Given the description of an element on the screen output the (x, y) to click on. 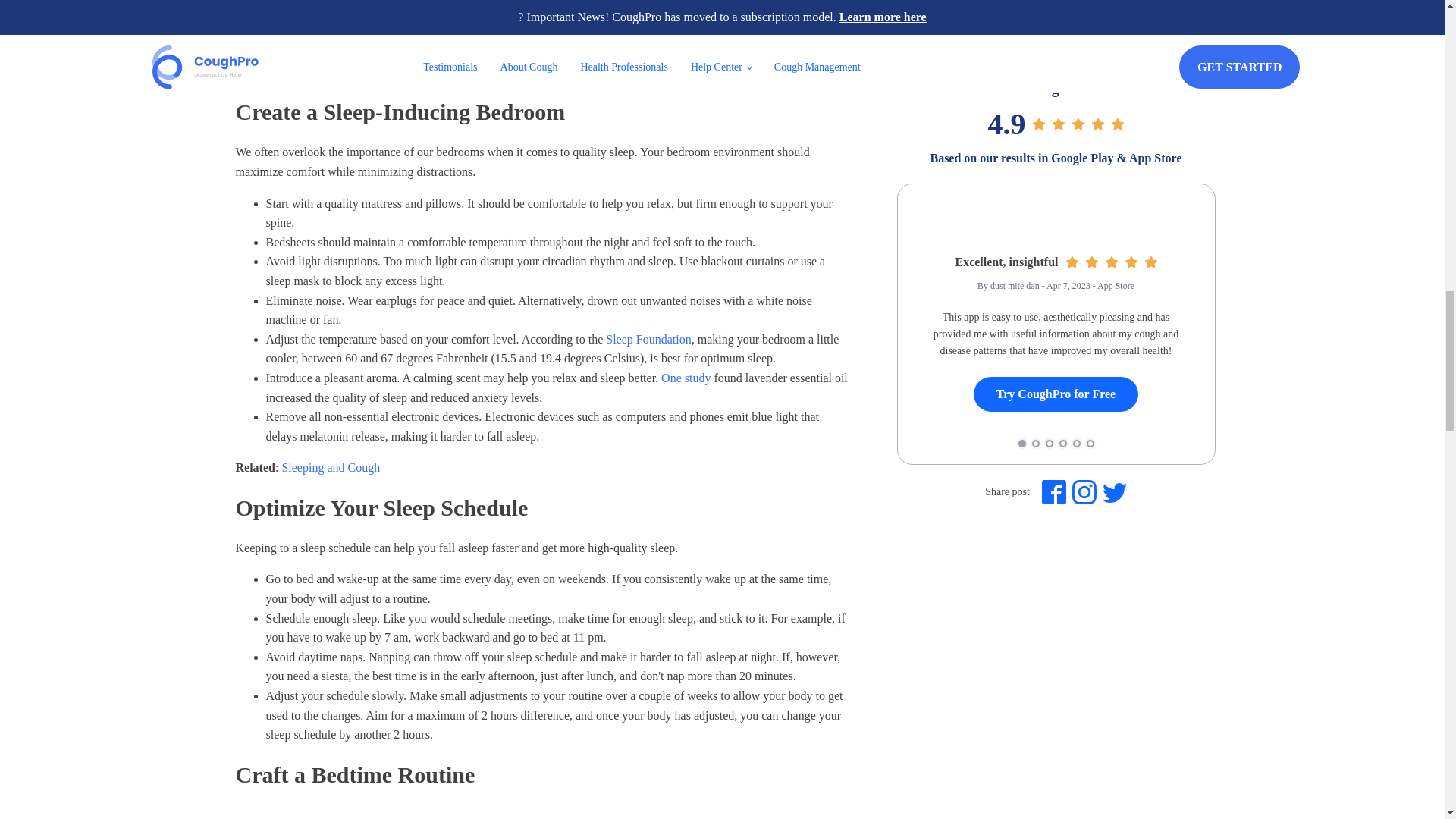
Sleep Foundation (647, 338)
Sleeping and Cough (330, 467)
One study (685, 377)
